Given the description of an element on the screen output the (x, y) to click on. 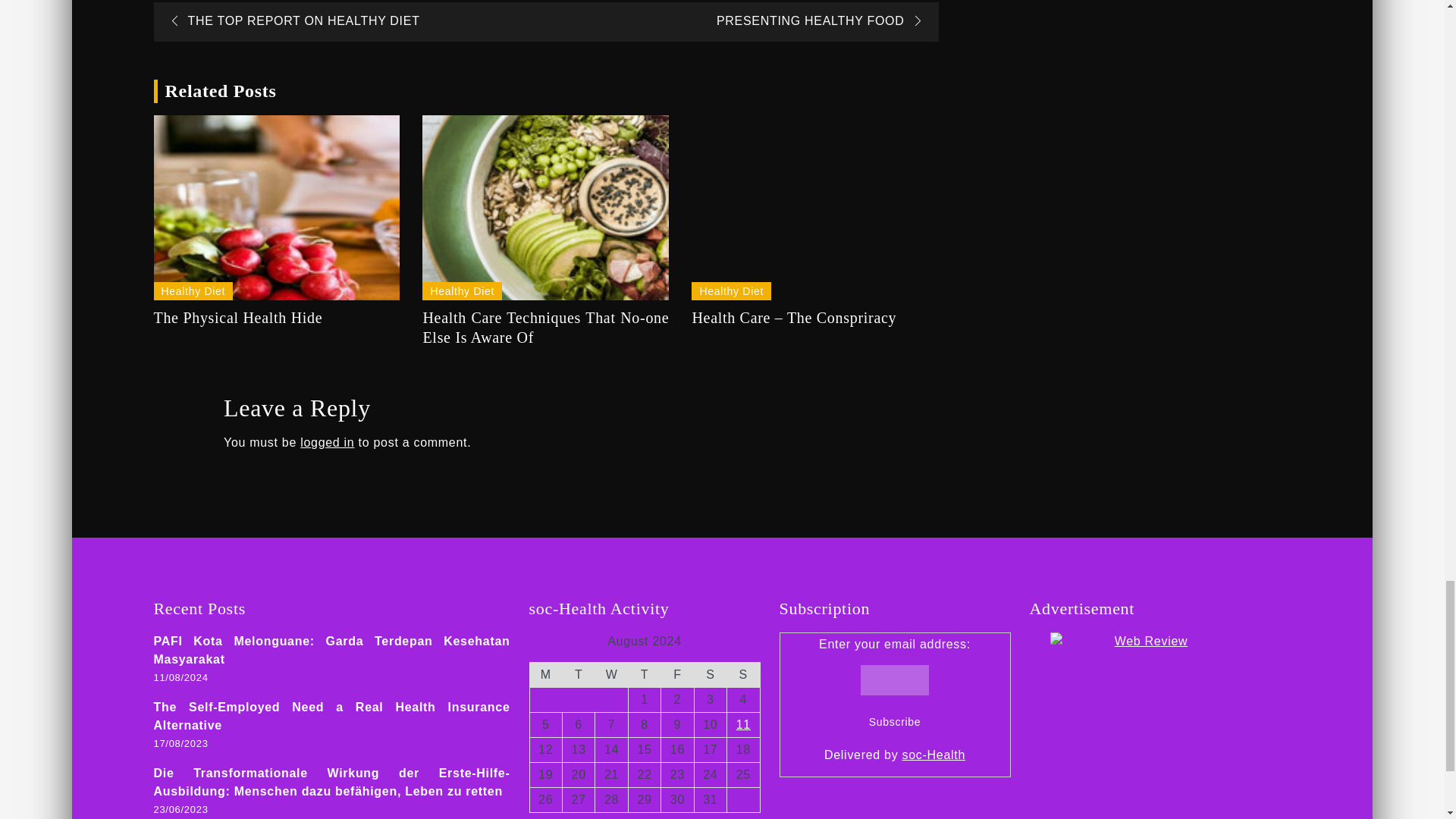
Health Care - The Conspriracy (814, 207)
Wednesday (611, 674)
Monday (545, 674)
Health Care Techniques That No-one Else Is Aware Of (545, 207)
Tuesday (578, 674)
THE TOP REPORT ON HEALTHY DIET (289, 20)
Subscribe (895, 721)
The Physical Health Hide (275, 207)
